Given the description of an element on the screen output the (x, y) to click on. 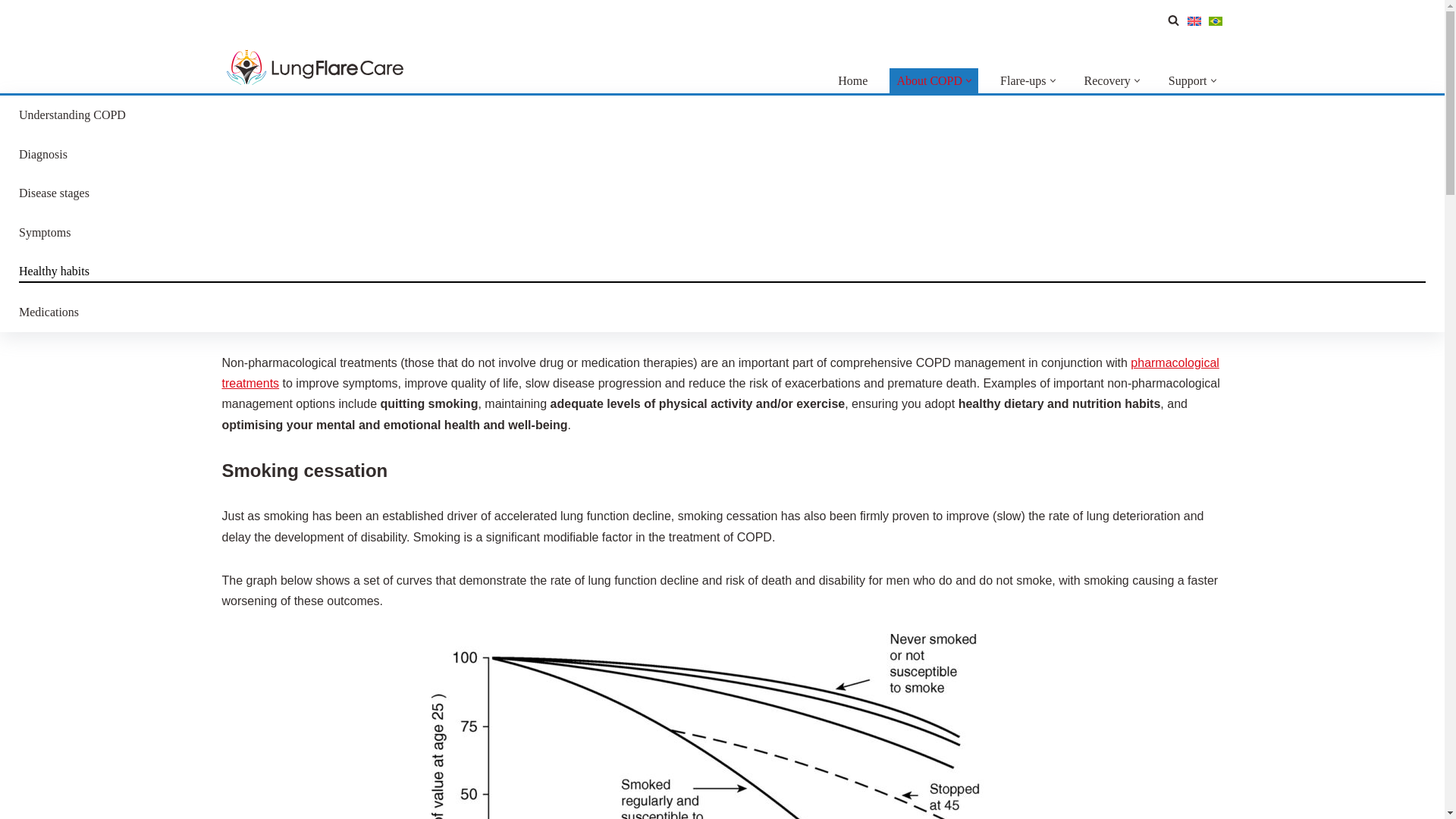
Diagnosis (721, 154)
Support (1188, 80)
Healthy habits (721, 271)
Skip to content (733, 31)
Medications (721, 312)
Understanding COPD (721, 115)
Disease stages (721, 193)
Home (852, 80)
Recovery (1107, 80)
Flare-ups (1022, 80)
About COPD (929, 80)
Symptoms (721, 232)
